Given the description of an element on the screen output the (x, y) to click on. 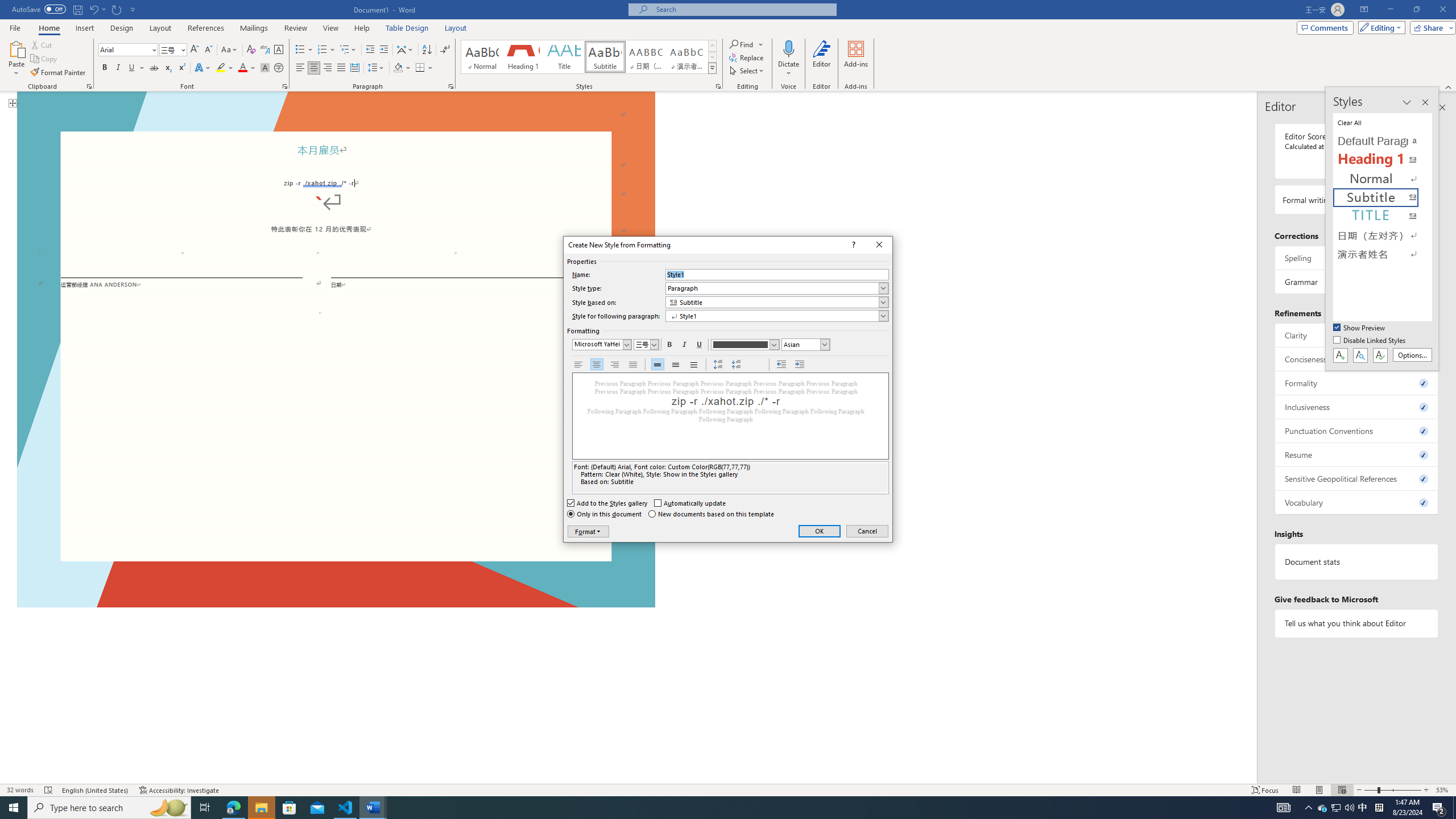
Tray Input Indicator - Chinese (Simplified, China) (1378, 807)
MSO Generic Control Container (601, 344)
Resume, 0 issues. Press space or enter to review items. (1356, 454)
